Given the description of an element on the screen output the (x, y) to click on. 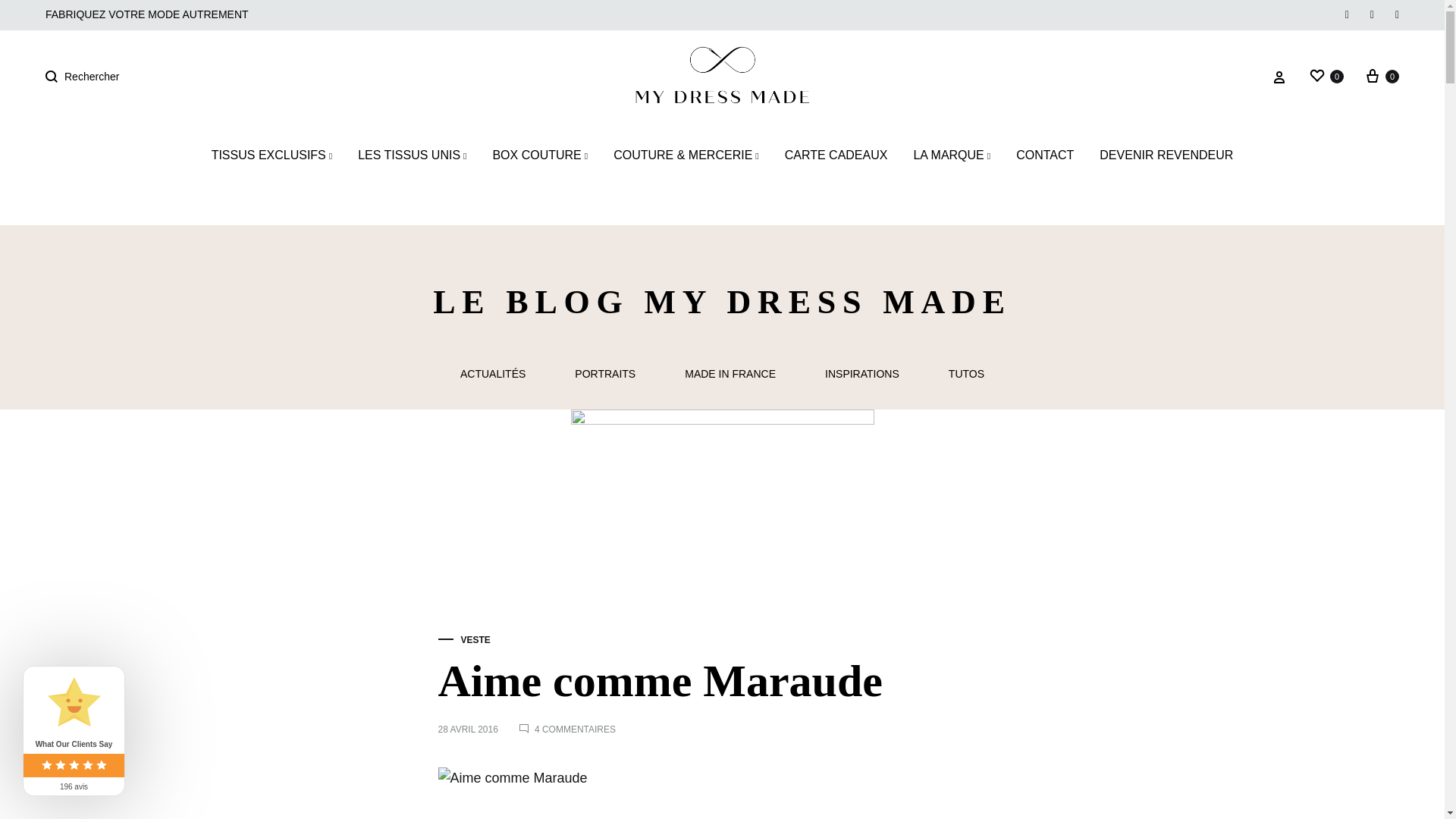
CONTACT (1045, 155)
TISSUS EXCLUSIFS (272, 155)
BOX COUTURE (540, 155)
LA MARQUE (951, 155)
0 (1380, 75)
LES TISSUS UNIS (411, 155)
0 (1325, 75)
CARTE CADEAUX (836, 155)
